Given the description of an element on the screen output the (x, y) to click on. 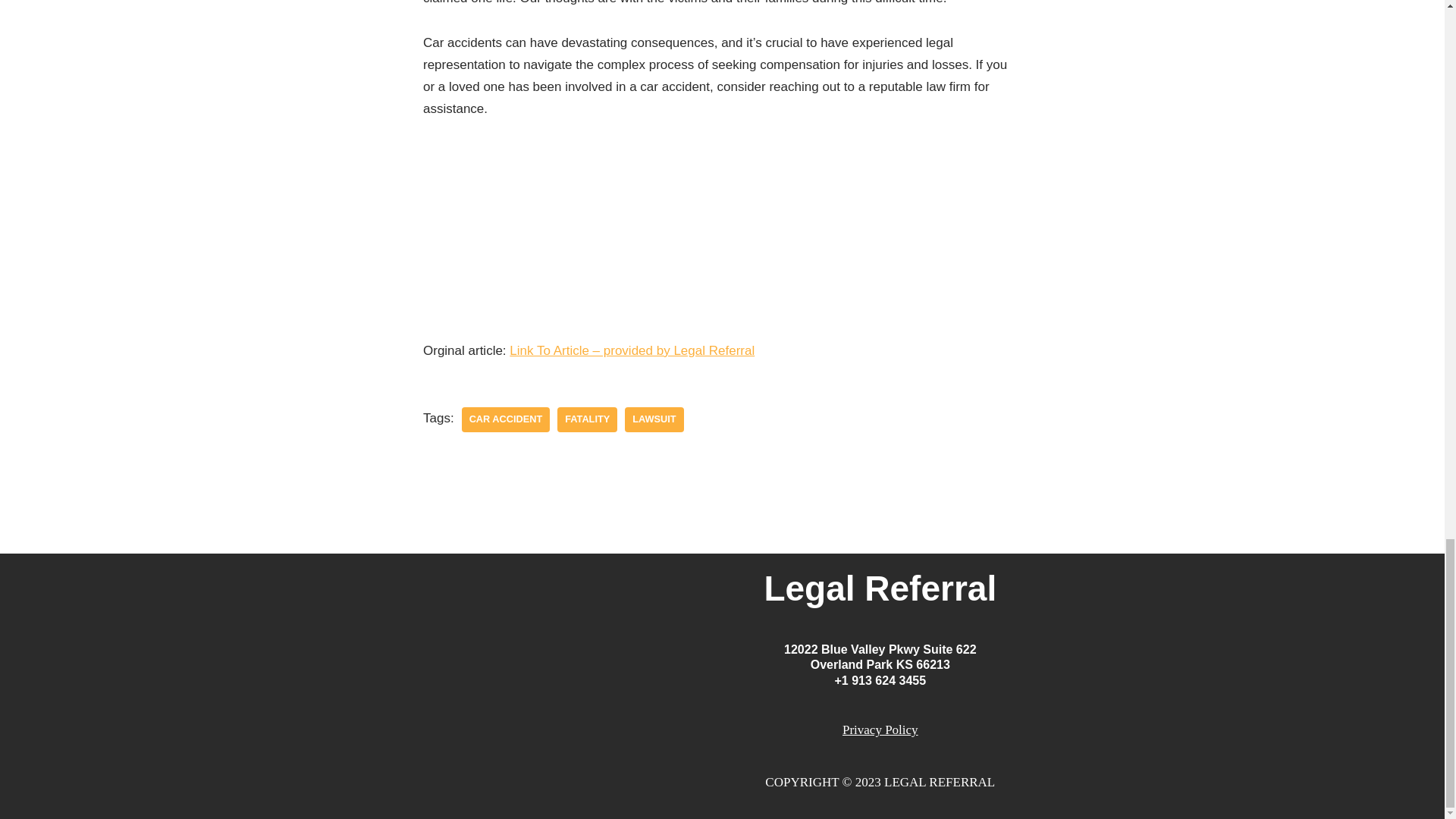
FATALITY (587, 419)
Fatality (587, 419)
LAWSUIT (653, 419)
lawsuit (653, 419)
Privacy Policy (880, 729)
CAR ACCIDENT (505, 419)
car accident (505, 419)
